Given the description of an element on the screen output the (x, y) to click on. 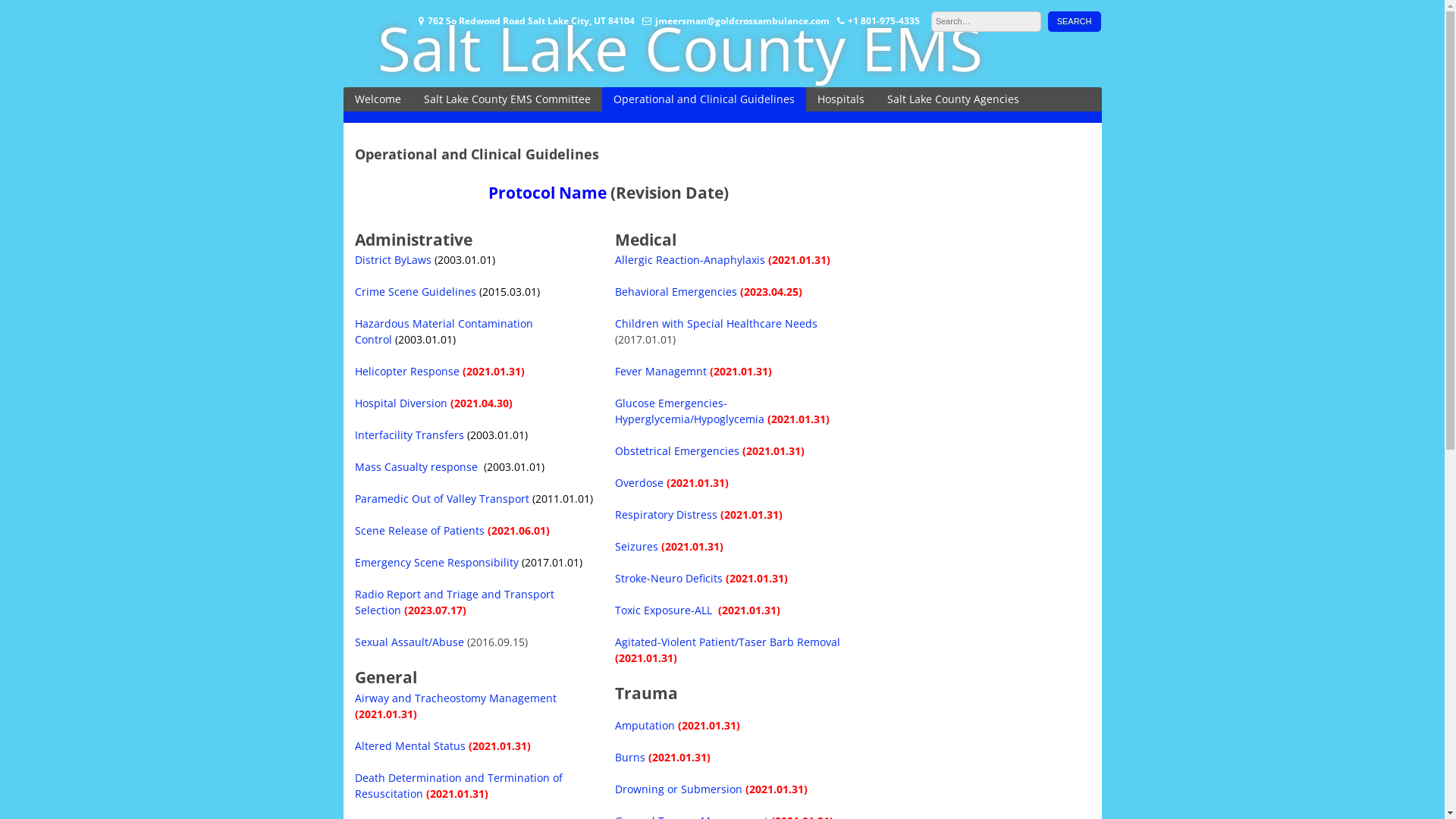
Behavioral Emergencies Element type: text (676, 291)
Mass Casualty response Element type: text (415, 466)
Overdose Element type: text (639, 482)
Radio Report and Triage and Transport Selection Element type: text (454, 601)
Scene Release of Patients Element type: text (419, 530)
Sexual Assault/Abuse Element type: text (409, 641)
Burns Element type: text (630, 756)
Interfacility Transfers Element type: text (409, 434)
Respiratory Distress Element type: text (666, 514)
Hospital Diversion Element type: text (400, 402)
Agitated-Violent Patient/Taser Barb Removal Element type: text (727, 641)
Airway and Tracheostomy Management Element type: text (455, 697)
Death Determination and Termination of Resuscitation Element type: text (458, 785)
Paramedic Out of Valley Transport  Element type: text (443, 498)
Glucose Emergencies- Hyperglycemia/Hypoglycemia Element type: text (689, 410)
Emergency Scene Responsibility  Element type: text (437, 562)
Obstetrical Emergencies Element type: text (677, 450)
Helicopter Response  Element type: text (408, 371)
Fever Managemnt Element type: text (660, 371)
Toxic Exposure-ALL  Element type: text (665, 609)
Hazardous Material Contamination Control Element type: text (443, 331)
Hospitals Element type: text (840, 99)
Search for: Element type: hover (986, 21)
Salt Lake County EMS Committee Element type: text (507, 99)
Search Element type: hover (1074, 21)
Seizures Element type: text (636, 546)
Children with Special Healthcare Needs Element type: text (716, 323)
District ByLaws Element type: text (392, 259)
Drowning or Submersion Element type: text (678, 788)
Altered Mental Status Element type: text (409, 745)
Amputation Element type: text (644, 724)
Salt Lake County EMS Element type: text (679, 47)
Crime Scene Guidelines Element type: text (415, 291)
Stroke-Neuro Deficits Element type: text (668, 578)
Search Element type: text (1074, 21)
Salt Lake County Agencies Element type: text (952, 99)
Allergic Reaction-Anaphylaxis Element type: text (691, 259)
Operational and Clinical Guidelines Element type: text (704, 99)
Welcome Element type: text (376, 99)
